Given the description of an element on the screen output the (x, y) to click on. 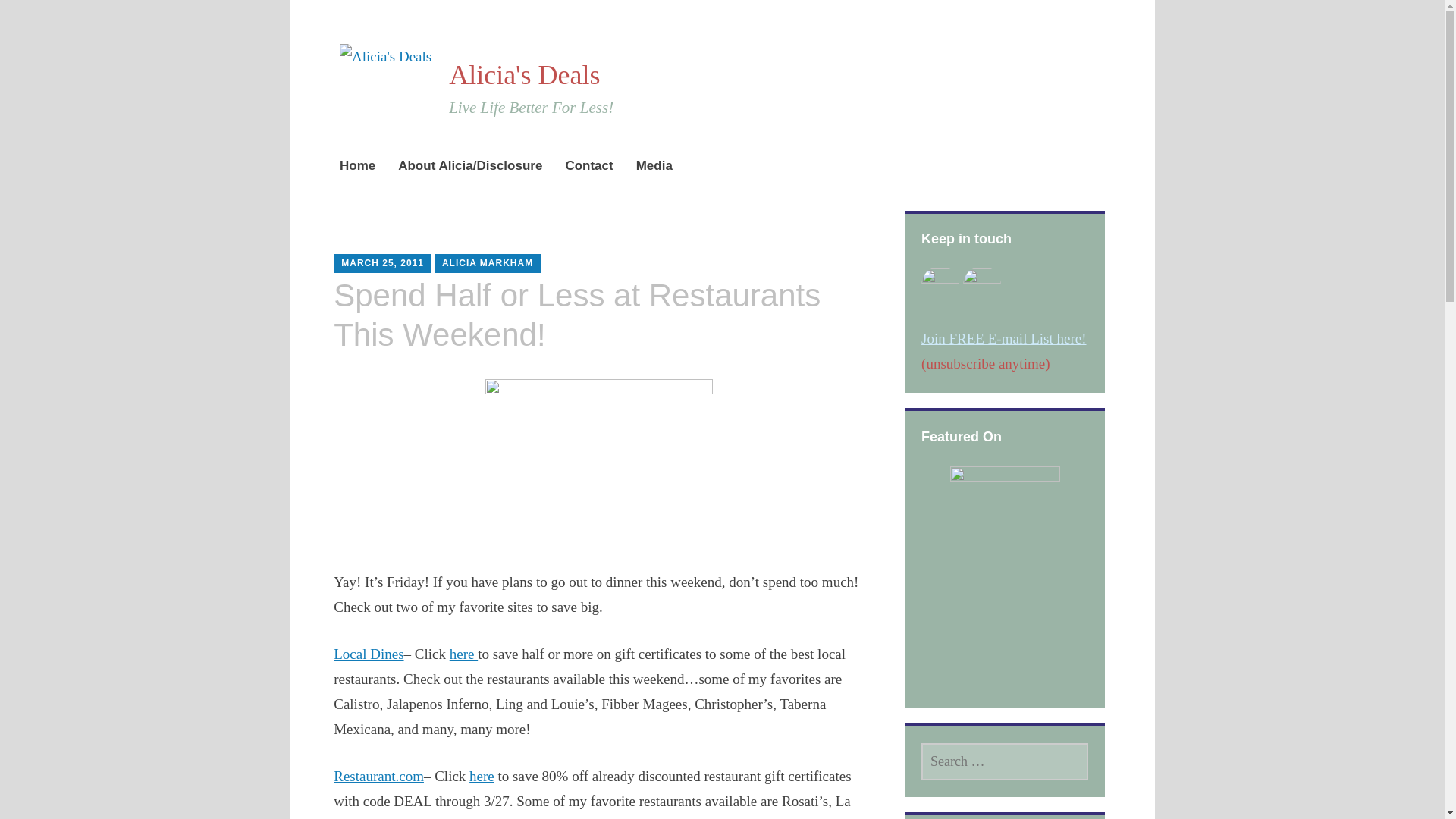
Home (357, 167)
Local Dines (368, 653)
ALICIA MARKHAM (487, 262)
Search (173, 17)
Contact (588, 167)
here (463, 653)
Alicia's Deals (523, 74)
MARCH 25, 2011 (381, 262)
here (481, 775)
Join FREE E-mail List here! (1003, 338)
Restaurant.com (378, 775)
boston-restaurant-week (598, 461)
Media (654, 167)
